Given the description of an element on the screen output the (x, y) to click on. 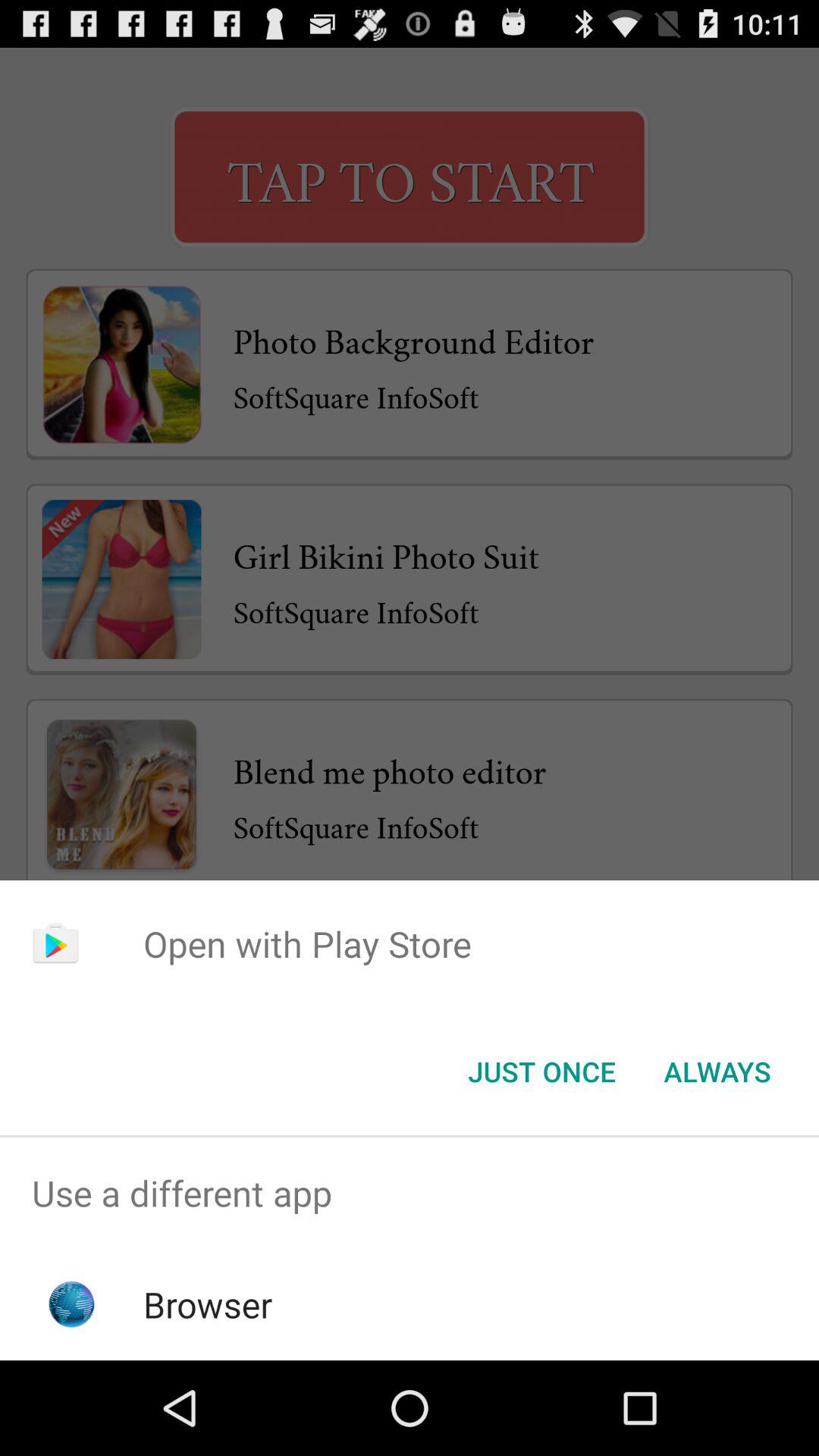
tap item above the browser (409, 1192)
